Given the description of an element on the screen output the (x, y) to click on. 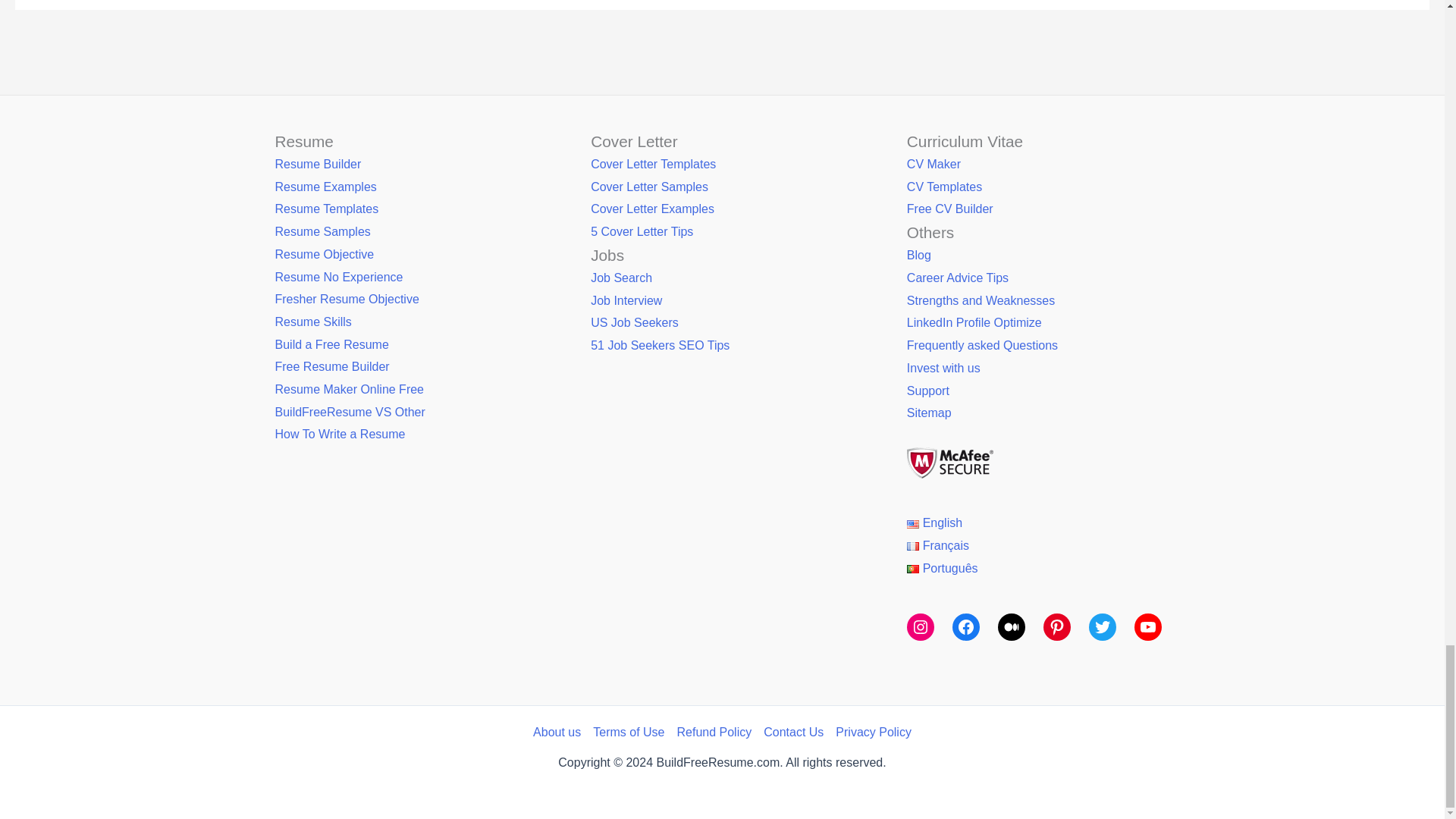
build free resume mcafee secure (949, 462)
